Given the description of an element on the screen output the (x, y) to click on. 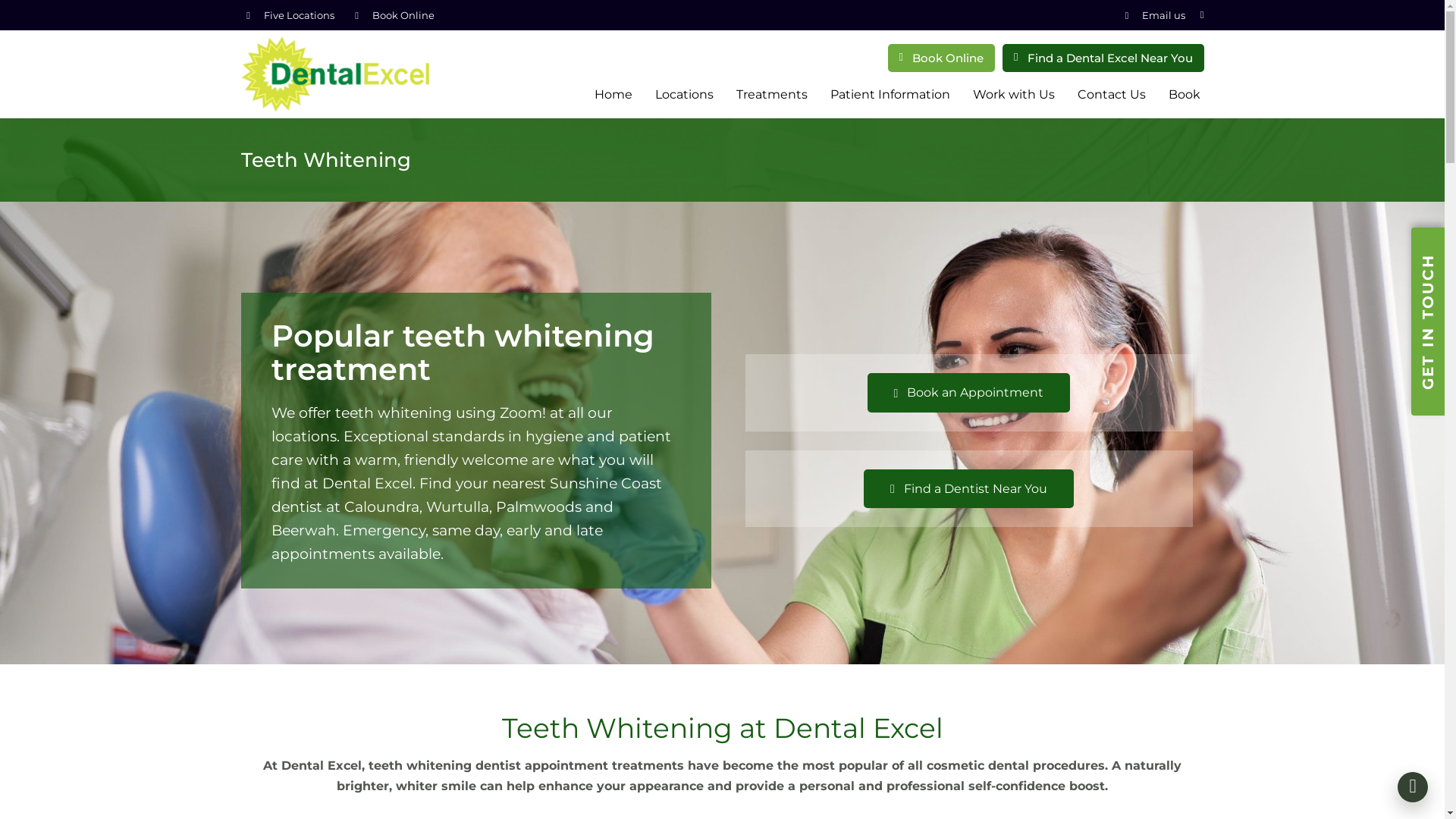
GET IN TOUCH Element type: text (1427, 321)
Find a Dentist Near You Element type: text (968, 487)
Book Element type: text (1184, 94)
Book Online Element type: text (402, 15)
Book an Appointment Element type: text (968, 392)
Scroll to top Element type: hover (1412, 786)
Email us Element type: text (1163, 15)
Book Online Element type: text (941, 57)
Find a Dental Excel Near You Element type: text (1102, 57)
Contact Us Element type: text (1111, 94)
Treatments Element type: text (771, 94)
Patient Information Element type: text (889, 94)
Locations Element type: text (683, 94)
Five Locations Element type: text (298, 15)
Work with Us Element type: text (1013, 94)
Home Element type: text (612, 94)
